Given the description of an element on the screen output the (x, y) to click on. 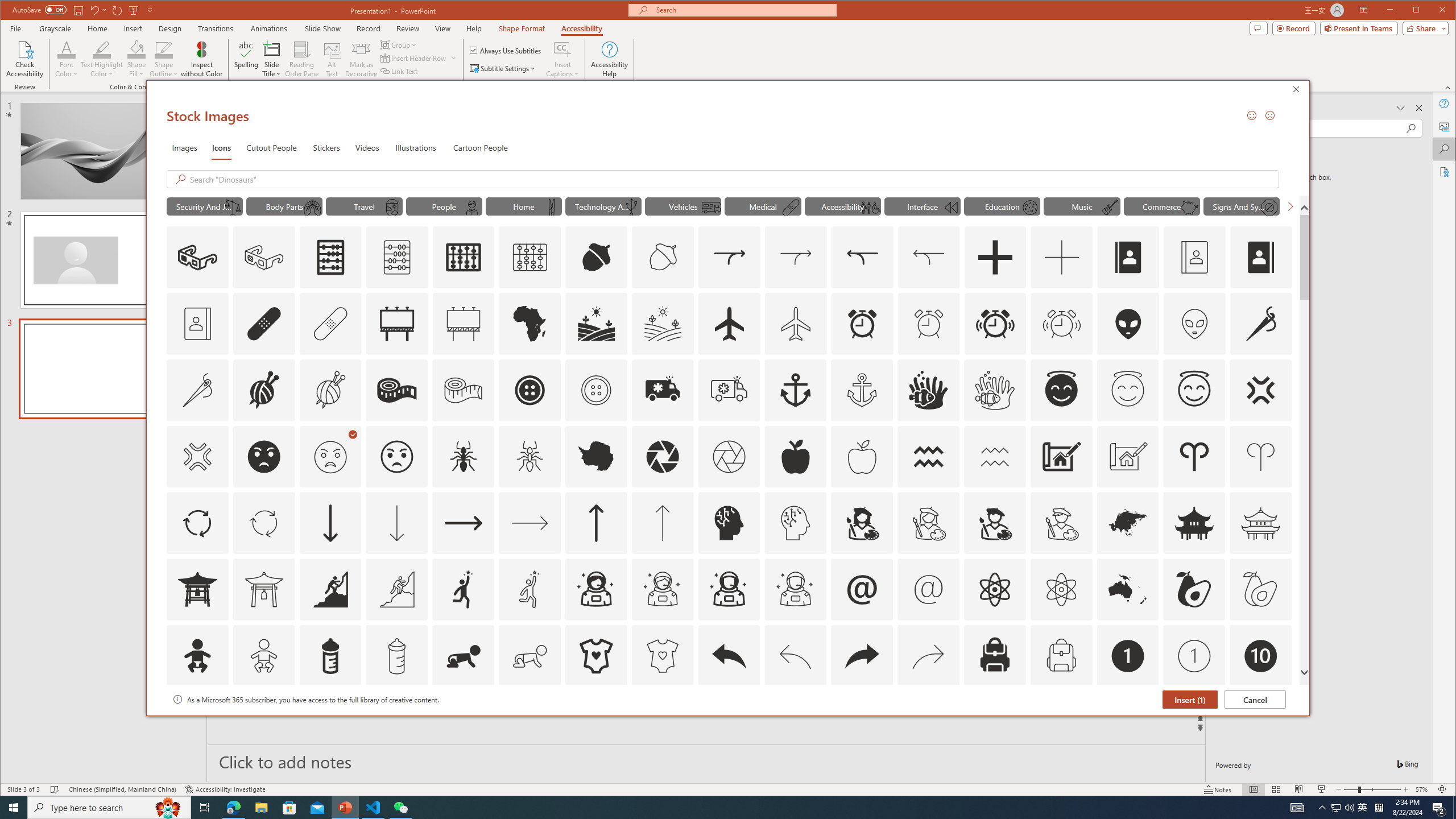
AutomationID: Icons (1260, 721)
AutomationID: Icons_Badge5 (662, 721)
AutomationID: Icons_AddressBook_RTL (1260, 256)
"Music" Icons. (1082, 206)
AutomationID: Icons_ArtistFemale_M (928, 522)
AutomationID: Icons_Badge6_M (861, 721)
AutomationID: Icons_AddressBook_LTR_M (1194, 256)
